Given the description of an element on the screen output the (x, y) to click on. 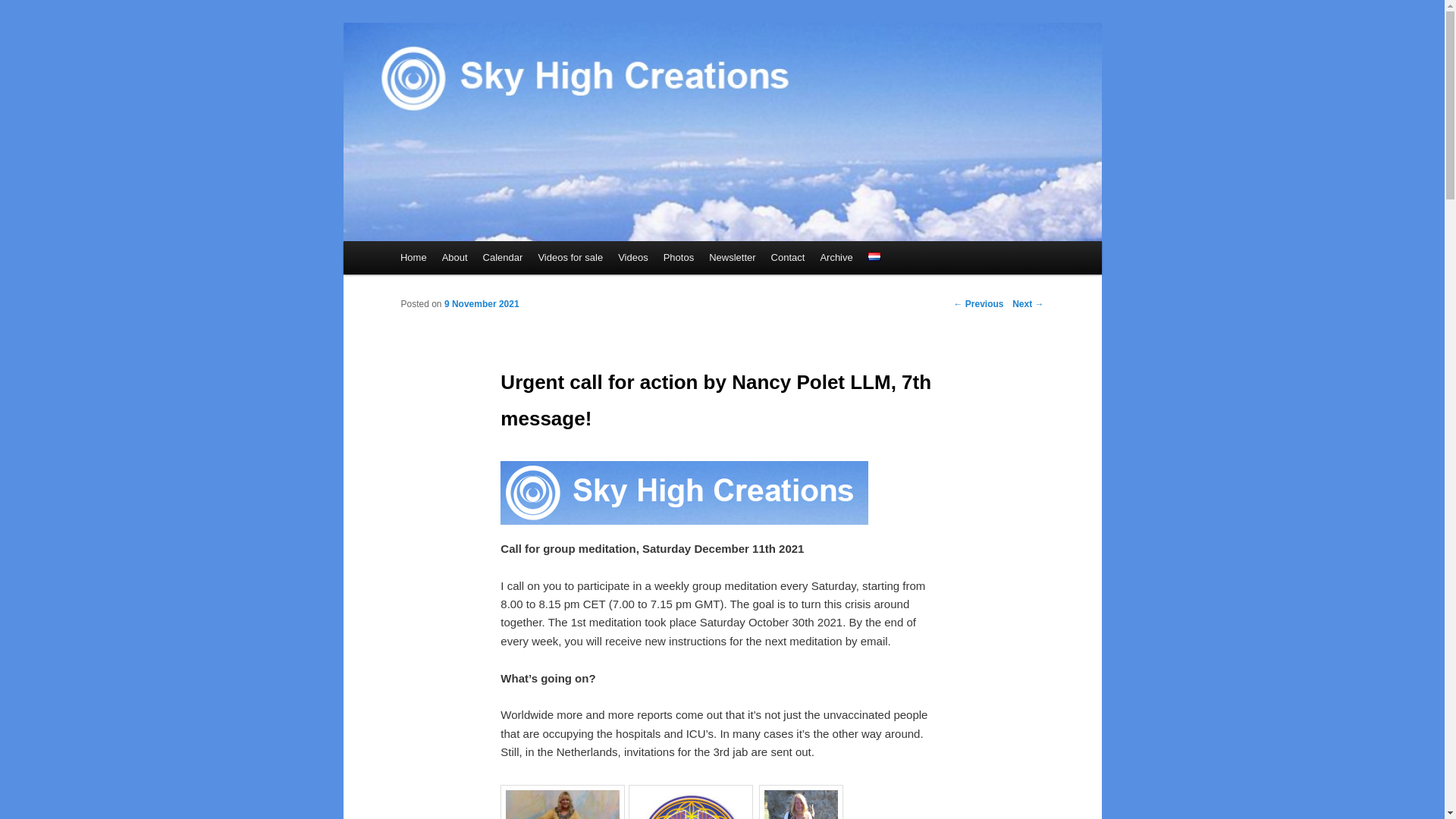
Home (413, 256)
Newsletter (731, 256)
Videos (633, 256)
Sky High Creations (504, 77)
Skip to secondary content (473, 259)
About (454, 256)
Skip to primary content (465, 259)
Videos for sale (569, 256)
Skip to primary content (465, 259)
Calendar (503, 256)
